Given the description of an element on the screen output the (x, y) to click on. 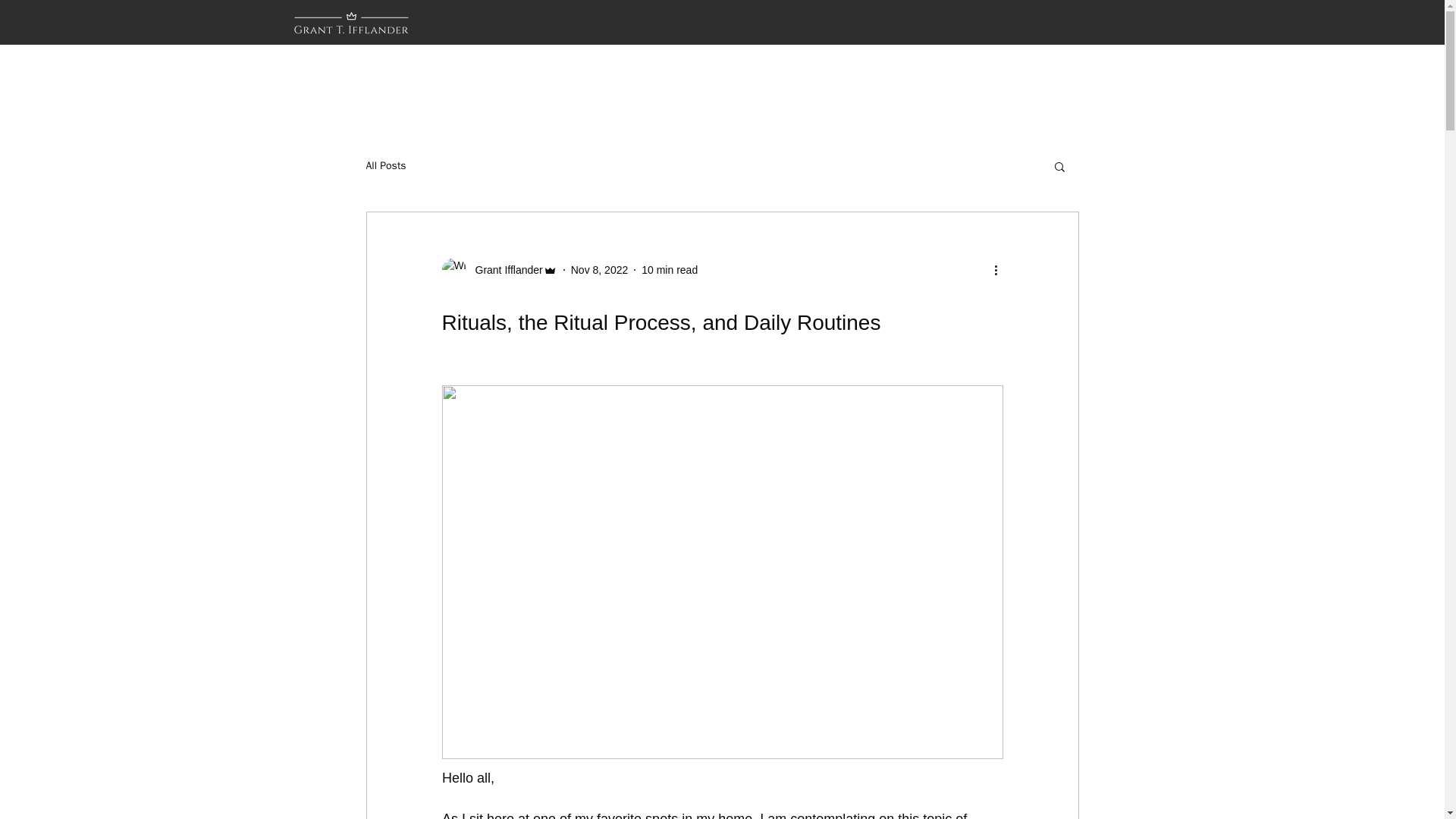
Nov 8, 2022 (599, 269)
Grant Ifflander (498, 269)
10 min read (669, 269)
All Posts (385, 165)
Grant Ifflander (503, 270)
